Given the description of an element on the screen output the (x, y) to click on. 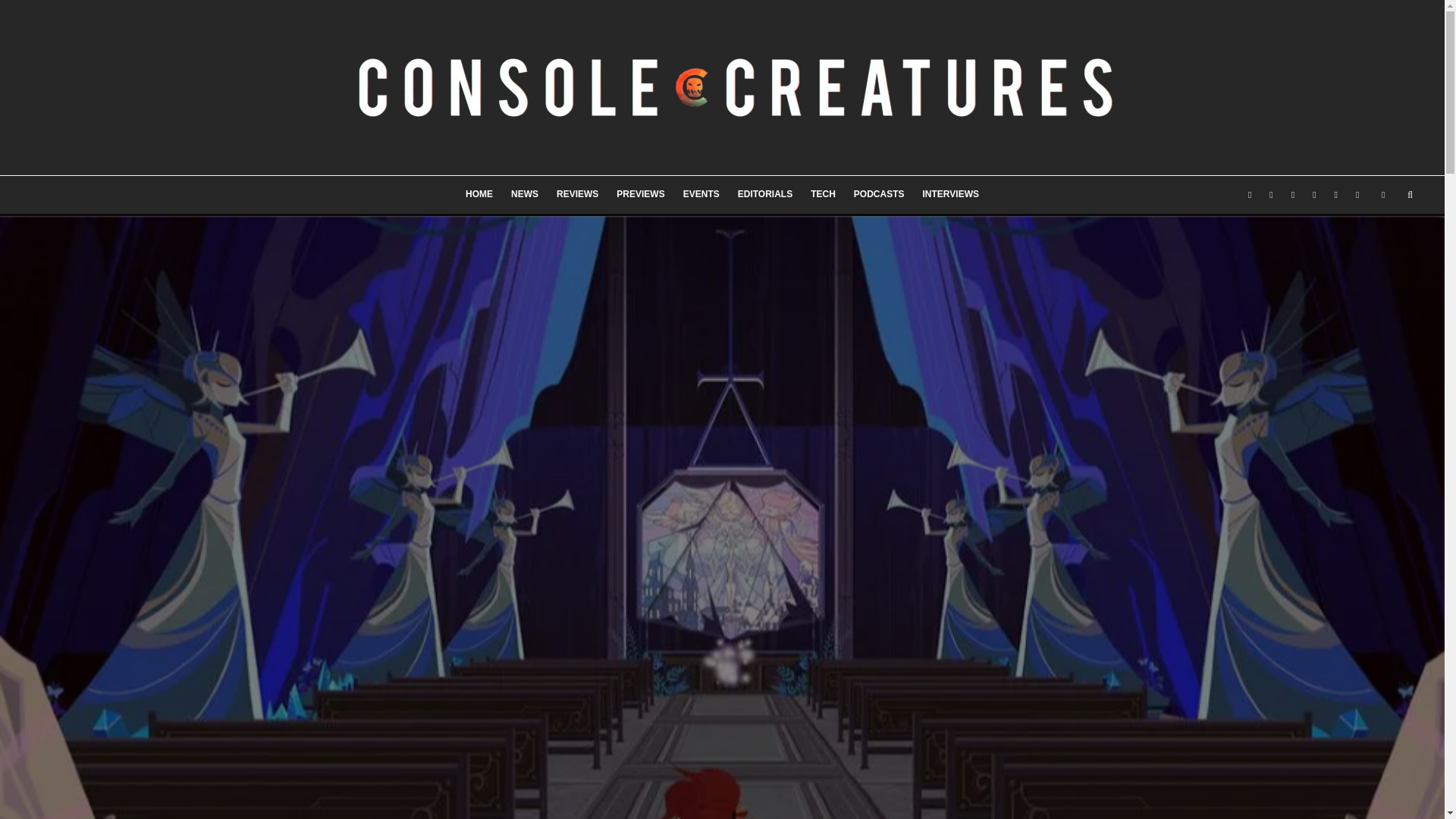
HOME (479, 194)
EVENTS (701, 194)
NEWS (524, 194)
REVIEWS (577, 194)
PREVIEWS (639, 194)
